Given the description of an element on the screen output the (x, y) to click on. 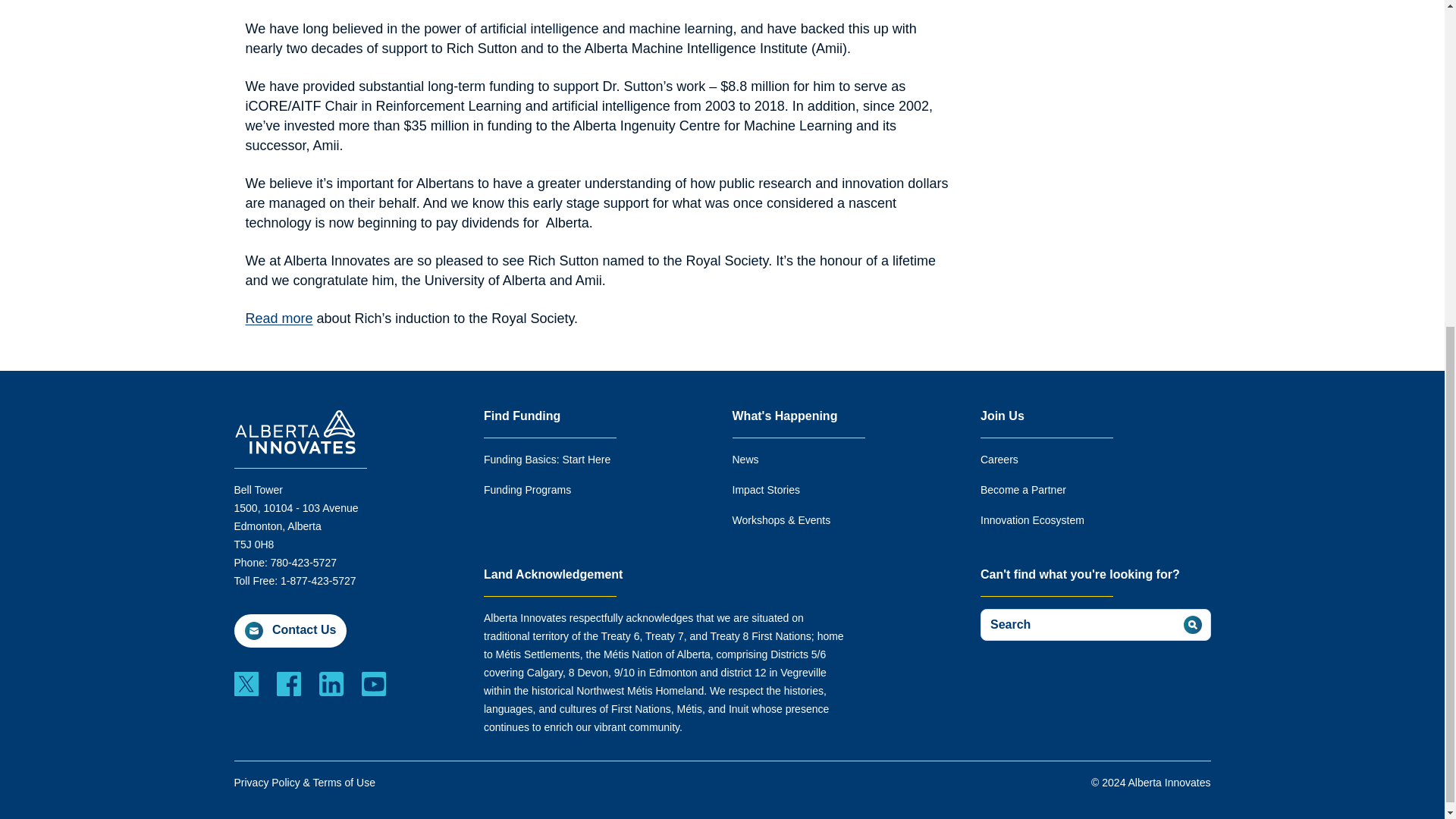
Home Page (295, 431)
